Given the description of an element on the screen output the (x, y) to click on. 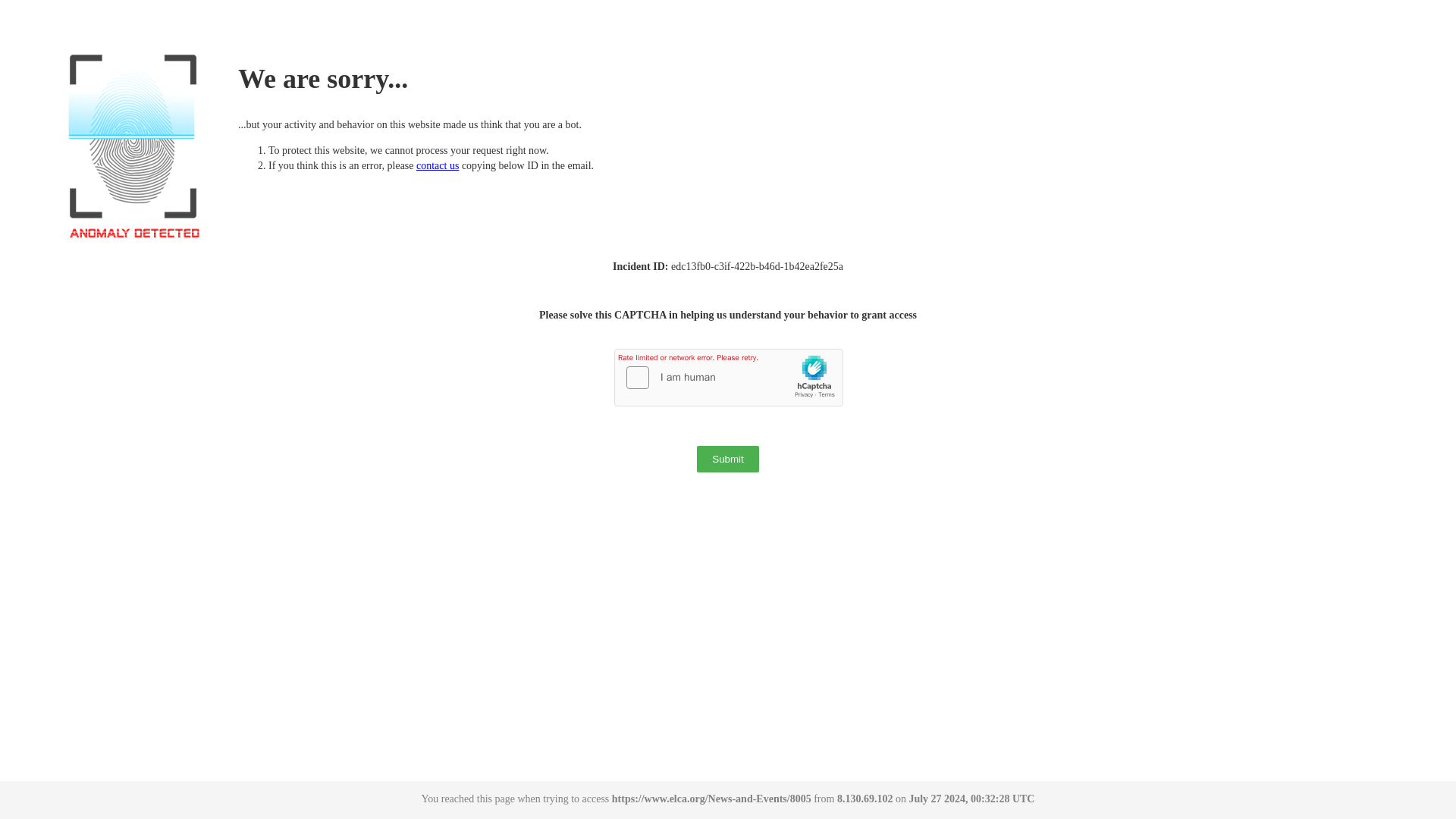
Widget containing checkbox for hCaptcha security challenge (729, 377)
contact us (437, 165)
Submit (727, 458)
Submit (727, 458)
